Given the description of an element on the screen output the (x, y) to click on. 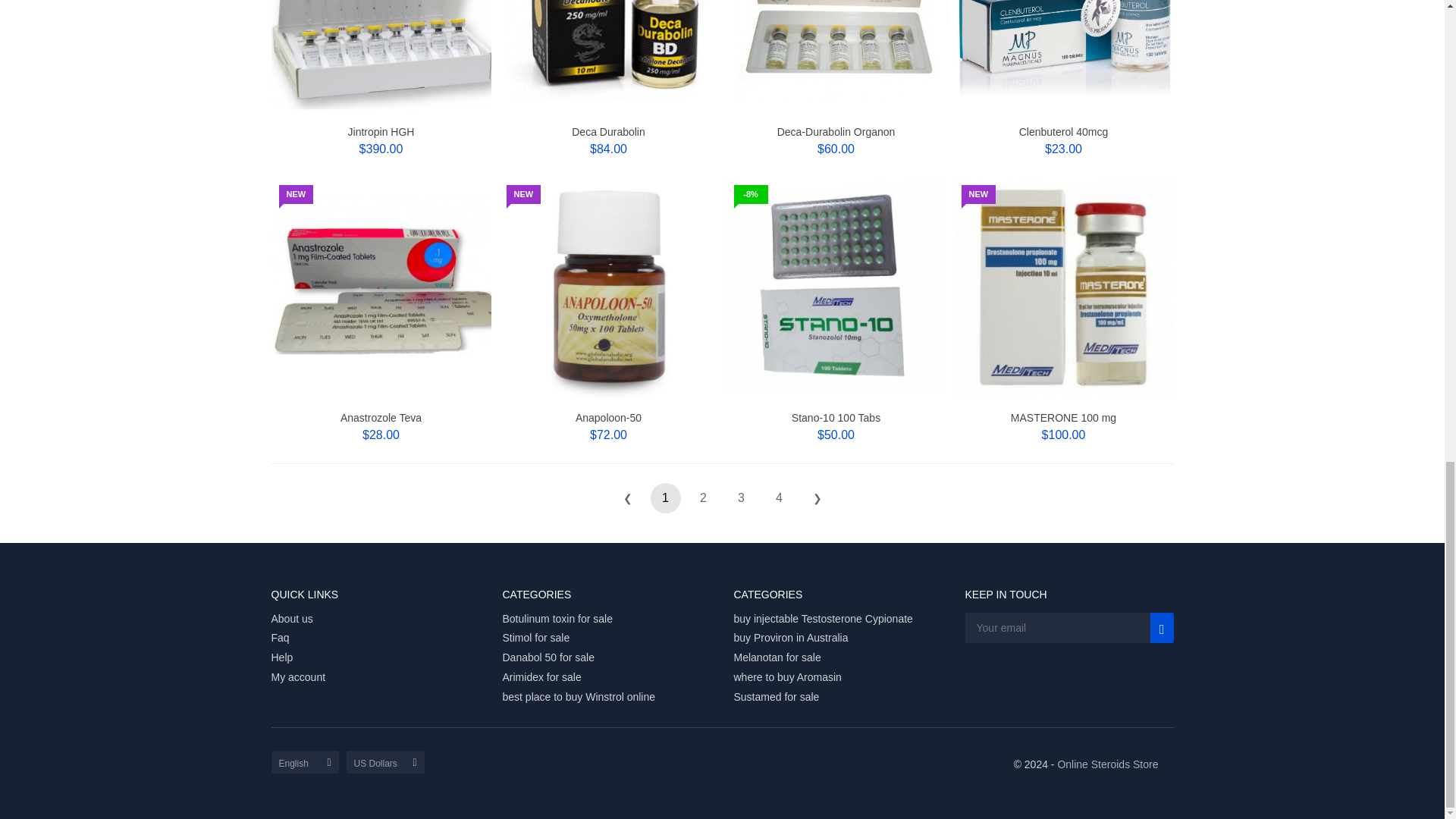
previous page (627, 498)
next page (817, 498)
